Given the description of an element on the screen output the (x, y) to click on. 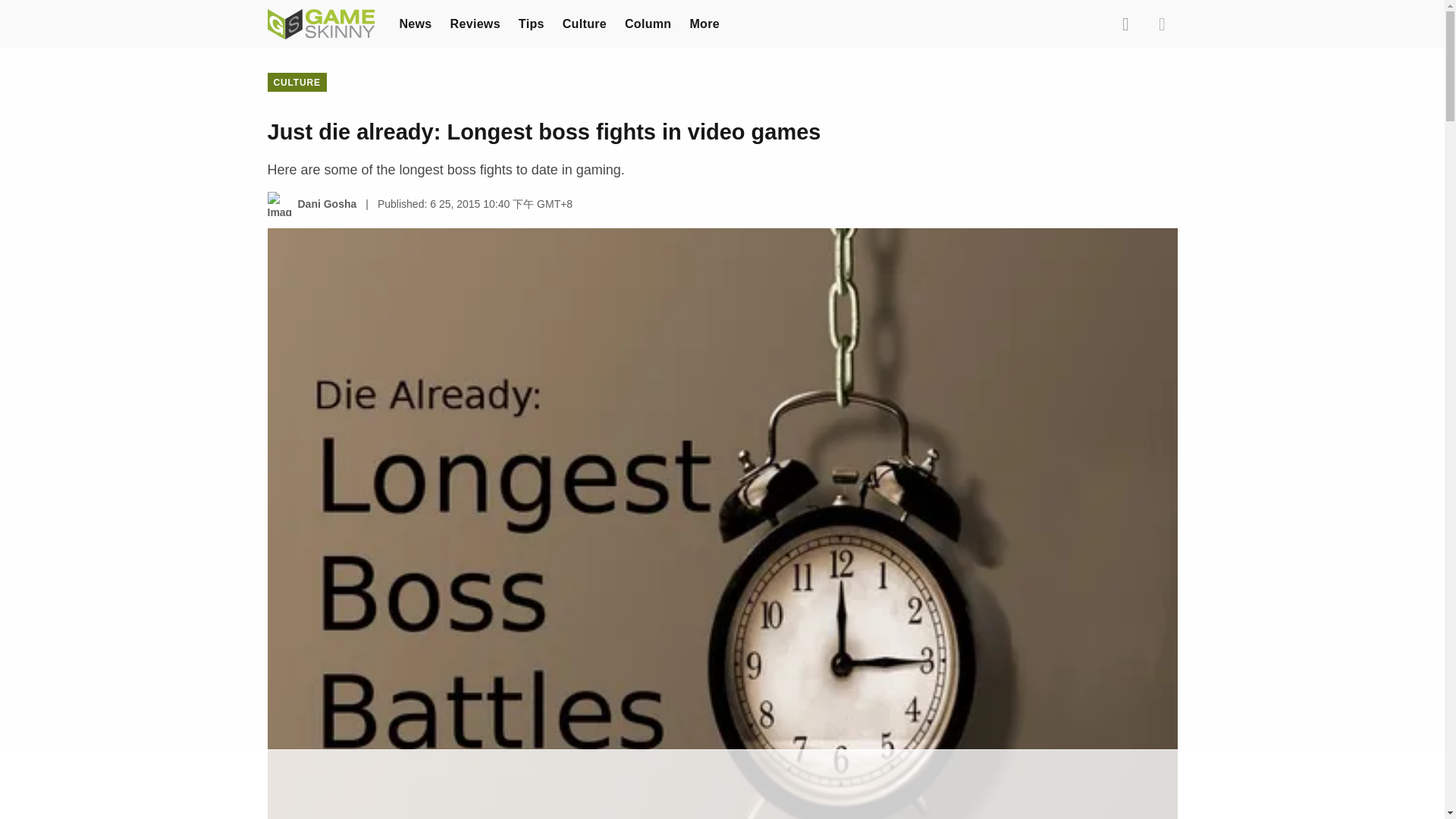
Reviews (474, 23)
CULTURE (296, 81)
Dark Mode (1161, 24)
Culture (584, 23)
News (414, 23)
Column (647, 23)
Tips (531, 23)
3rd party ad content (721, 785)
Search (1124, 24)
